Given the description of an element on the screen output the (x, y) to click on. 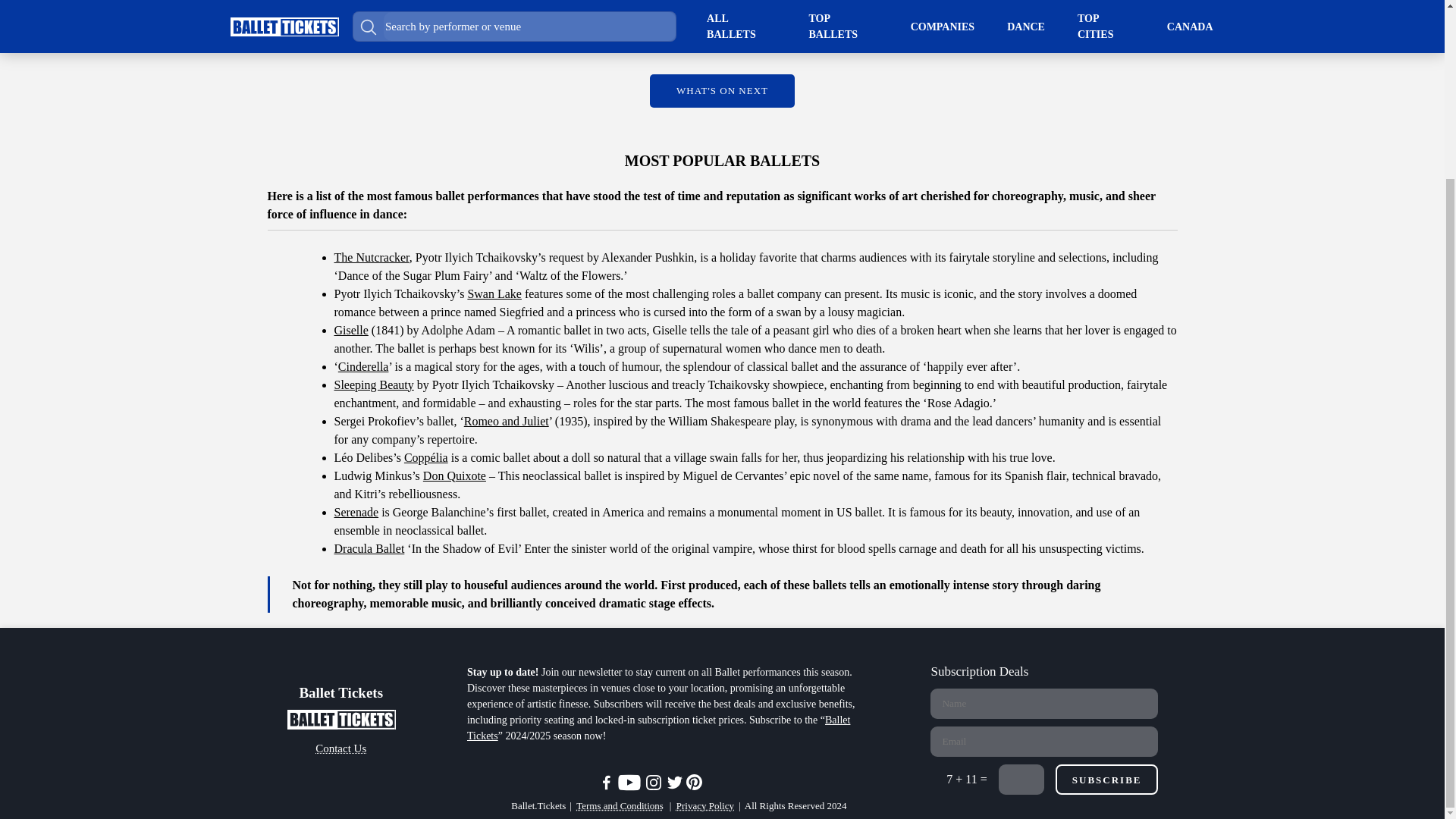
Serenade (355, 511)
Swan Lake (494, 292)
WHAT'S ON NEXT (721, 90)
Romeo and Juliet (506, 420)
Dracula Ballet (368, 547)
Sleeping Beauty (373, 383)
Terms and Conditions (619, 806)
Contact Us (340, 749)
Don Quixote (454, 474)
Ballet Tickets (658, 728)
Cinderella (362, 365)
Giselle (350, 328)
The Nutcracker (371, 256)
Privacy Policy (705, 806)
